Given the description of an element on the screen output the (x, y) to click on. 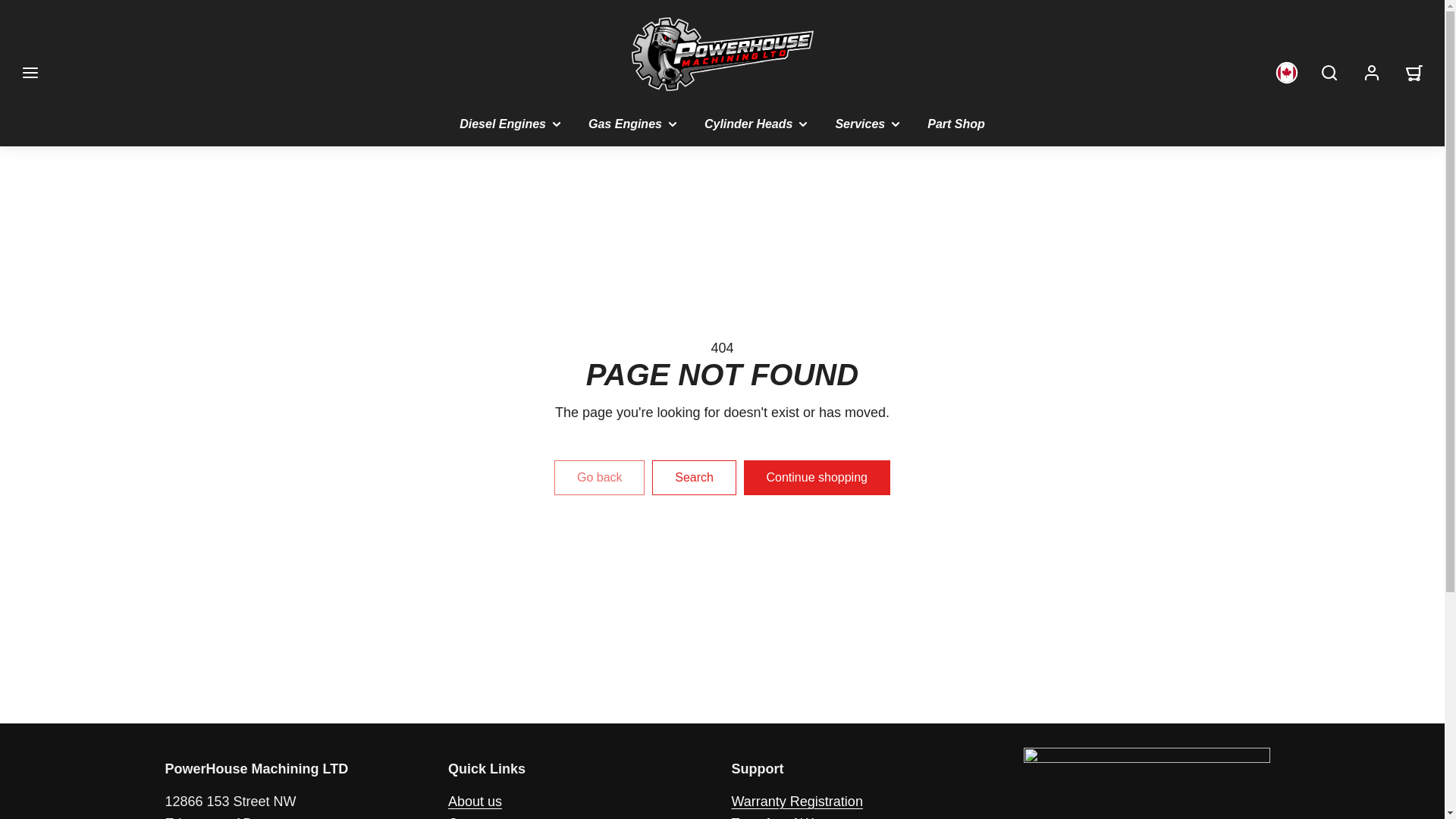
Gas Engines (633, 124)
Search (1329, 72)
Account (1372, 72)
Part Shop (956, 124)
Diesel Engines (511, 124)
Menu (29, 72)
Services (868, 124)
Cylinder Heads (757, 124)
